Given the description of an element on the screen output the (x, y) to click on. 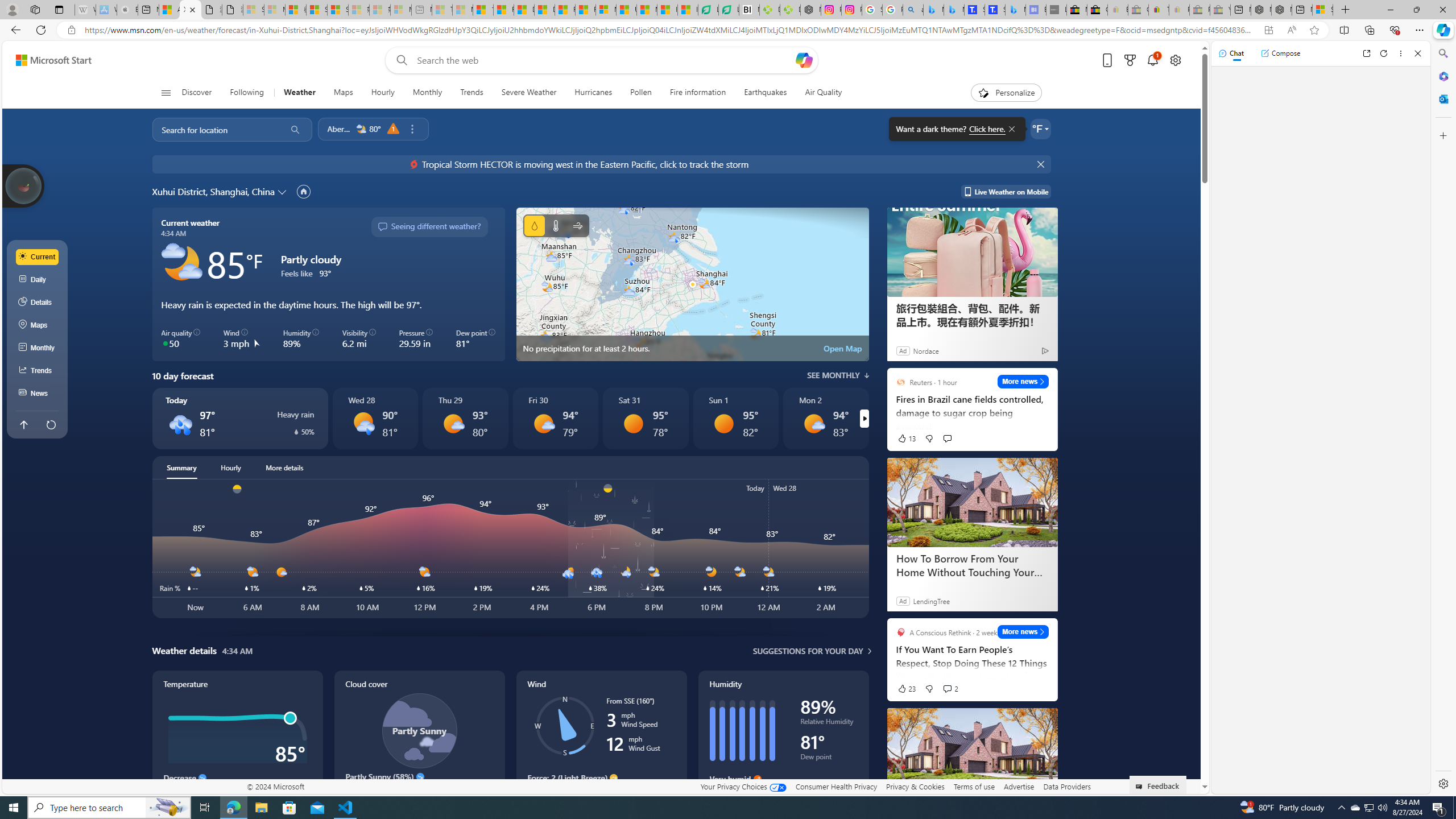
Food and Drink - MSN (503, 9)
Yard, Garden & Outdoor Living - Sleeping (1219, 9)
Daily (37, 279)
Switch right (864, 418)
Personalize (1006, 92)
Sign in to your Microsoft account - Sleeping (253, 9)
Hurricanes (592, 92)
Humidity (783, 741)
Pressure 29.59 in (415, 338)
Mostly sunny (813, 422)
